Given the description of an element on the screen output the (x, y) to click on. 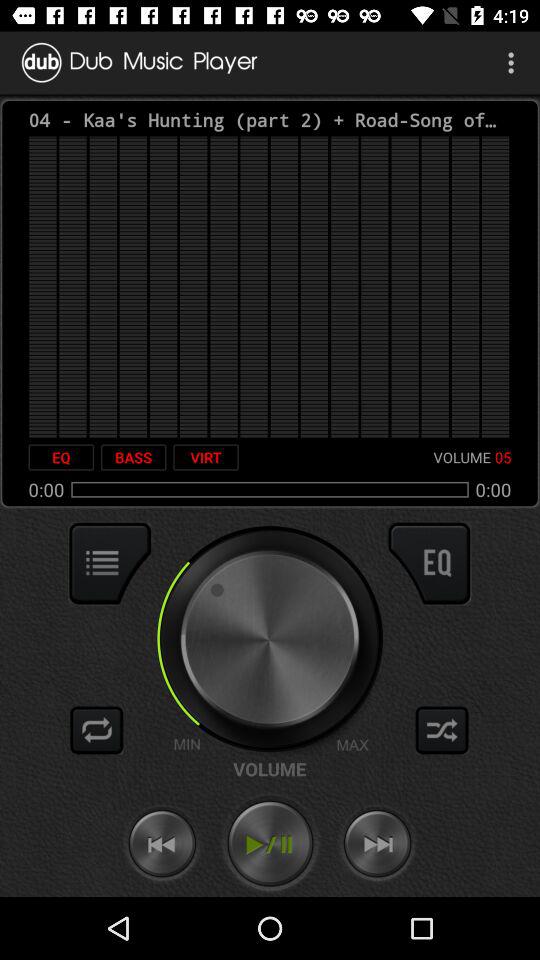
shuffle (442, 730)
